Given the description of an element on the screen output the (x, y) to click on. 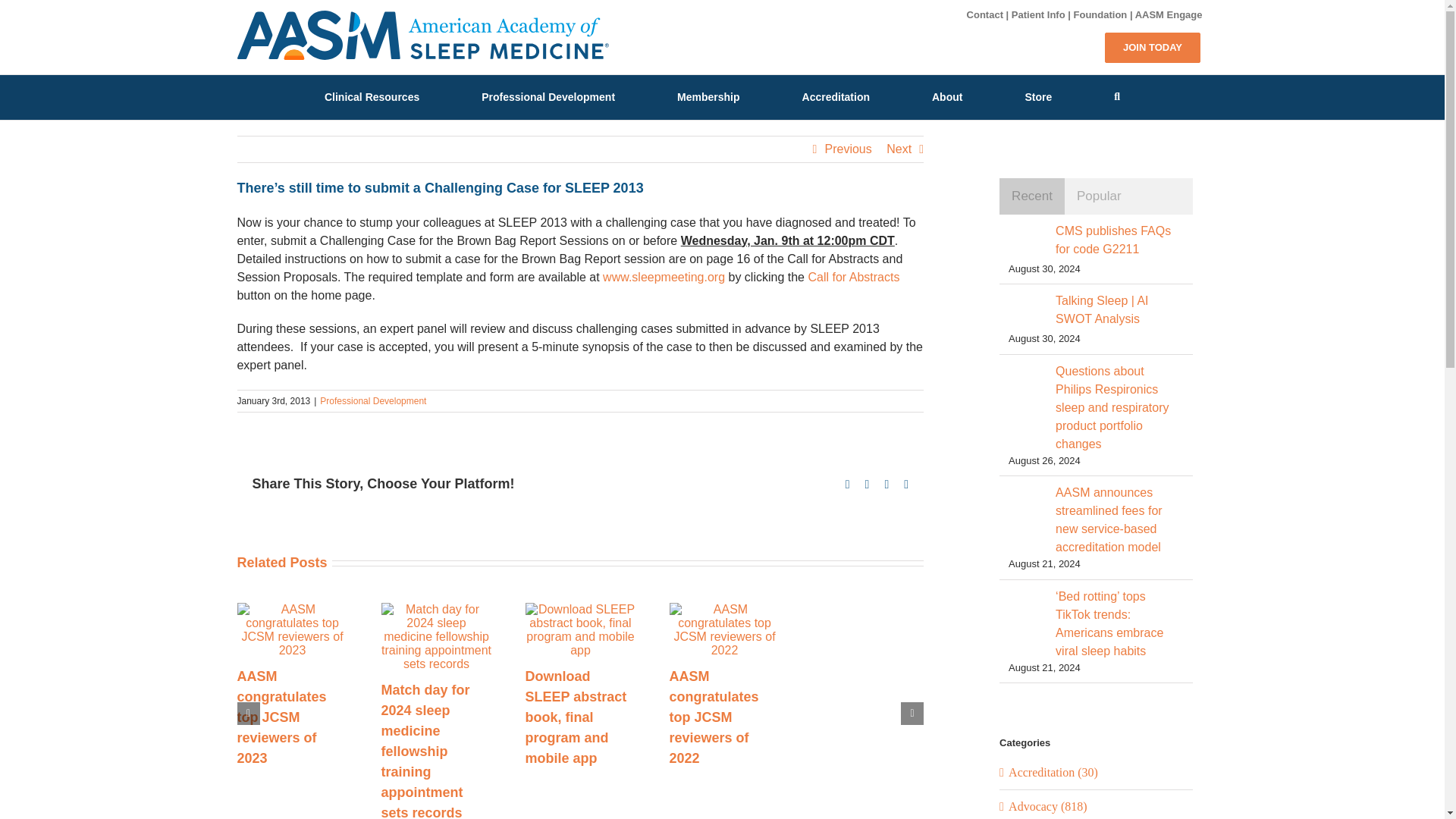
JOIN TODAY (1152, 46)
AASM congratulates top JCSM reviewers of 2023 (280, 717)
Search (1117, 96)
Clinical Resources (371, 96)
Foundation (1100, 14)
AASM congratulates top JCSM reviewers of 2022 (713, 717)
Patient Info (1038, 14)
AASM Engage (1168, 14)
Contact (984, 14)
